Given the description of an element on the screen output the (x, y) to click on. 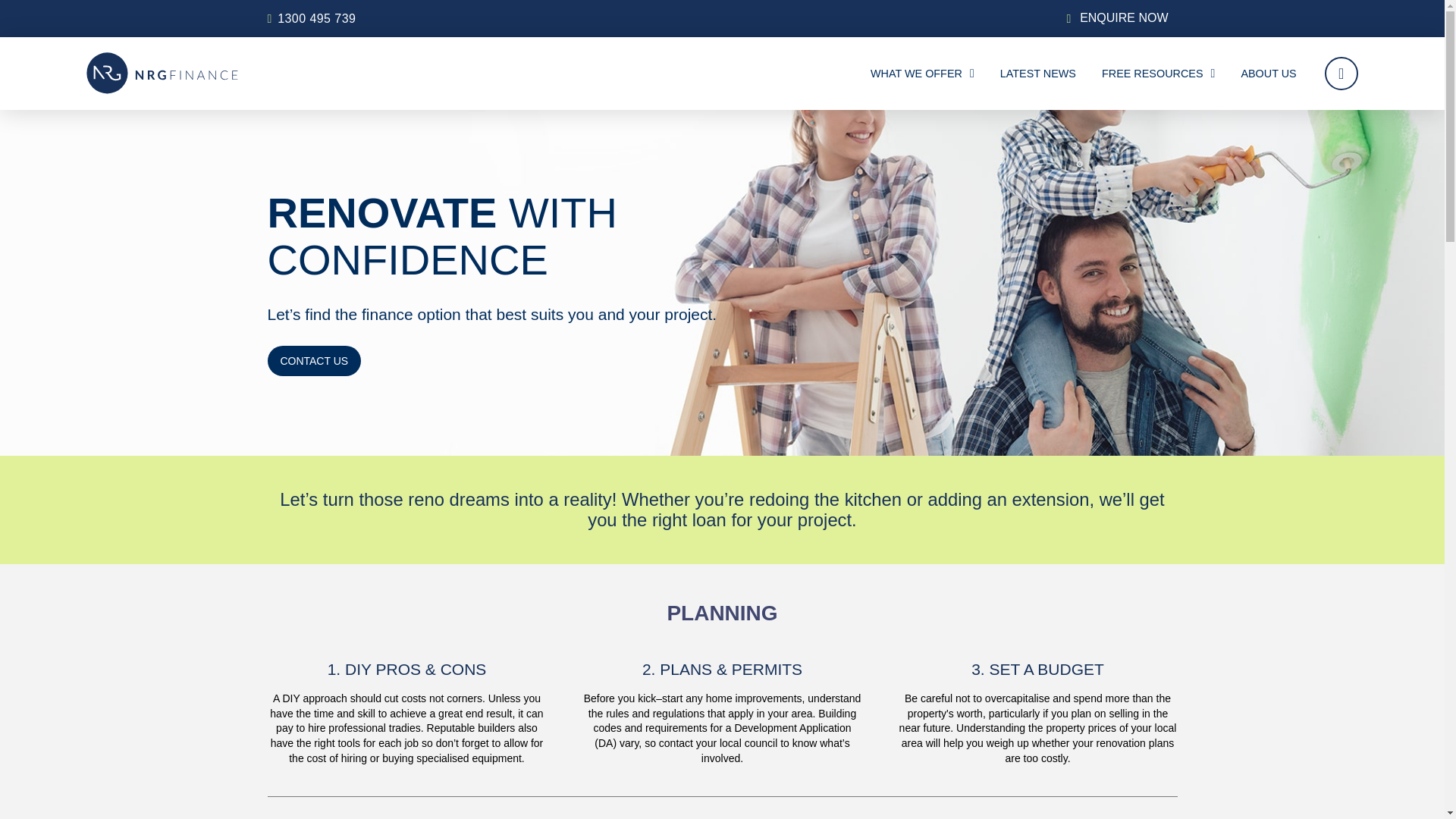
LATEST NEWS (1038, 72)
ABOUT US (1267, 72)
ENQUIRE NOW (1123, 17)
1300 495 739 (316, 18)
CONTACT US (313, 360)
WHAT WE OFFER (922, 72)
FREE RESOURCES (1158, 72)
